Given the description of an element on the screen output the (x, y) to click on. 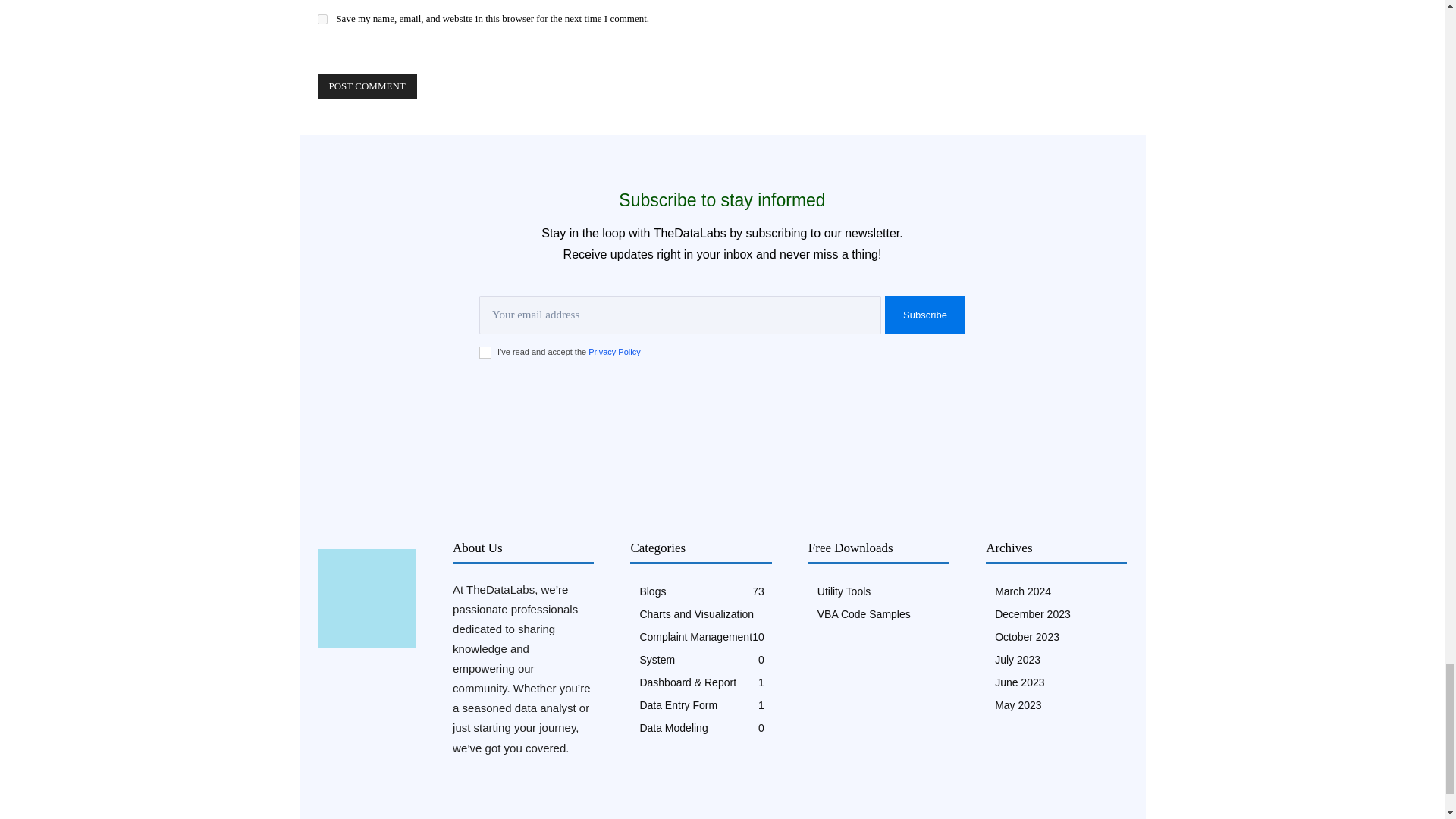
Post Comment (366, 86)
yes (321, 19)
